Given the description of an element on the screen output the (x, y) to click on. 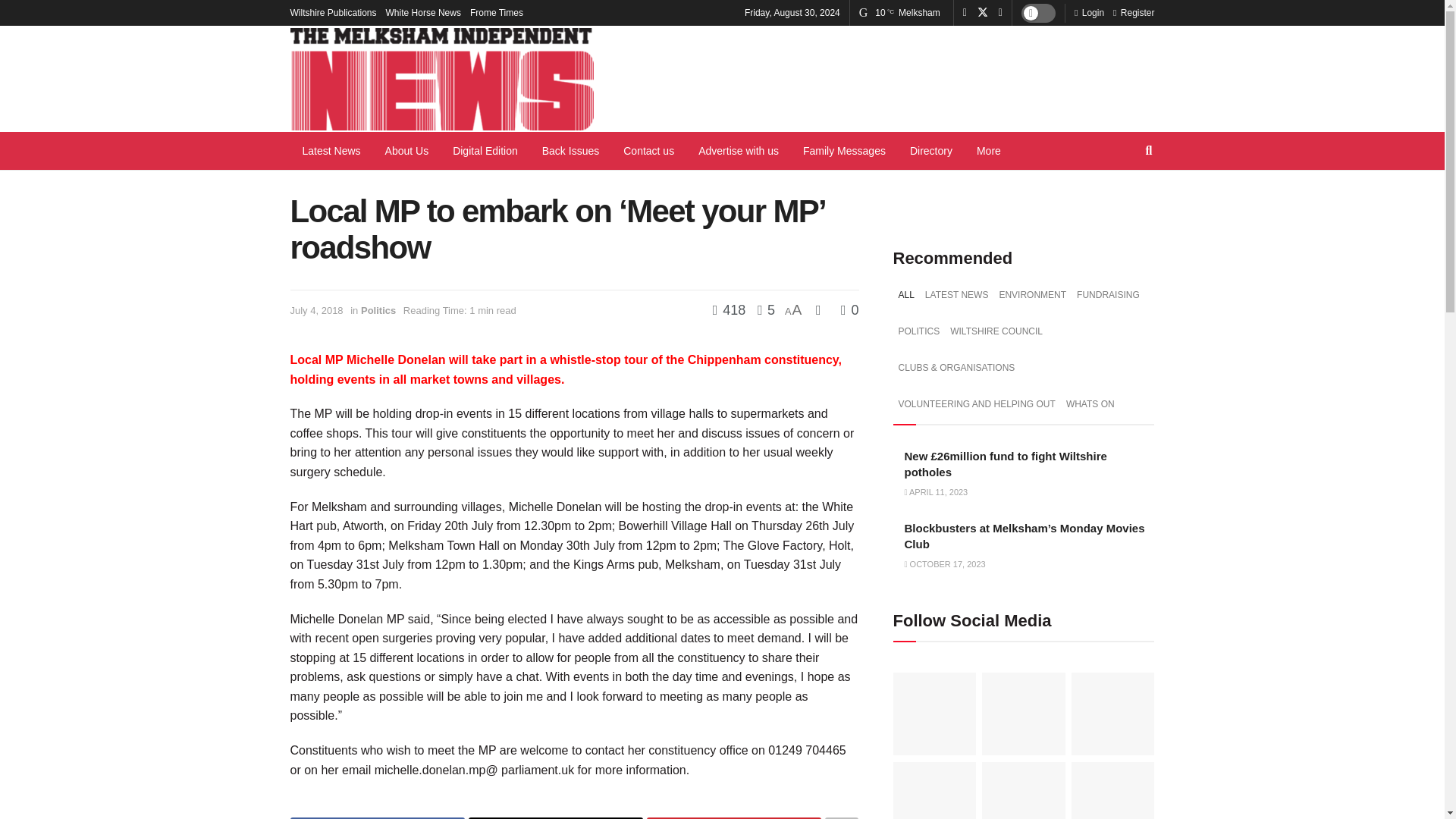
Family Messages (844, 150)
Register (1133, 12)
Login (1088, 12)
About Us (406, 150)
Wiltshire Publications (332, 12)
Advertise with us (737, 150)
More (988, 150)
Back Issues (570, 150)
Latest News (330, 150)
Directory (930, 150)
